Given the description of an element on the screen output the (x, y) to click on. 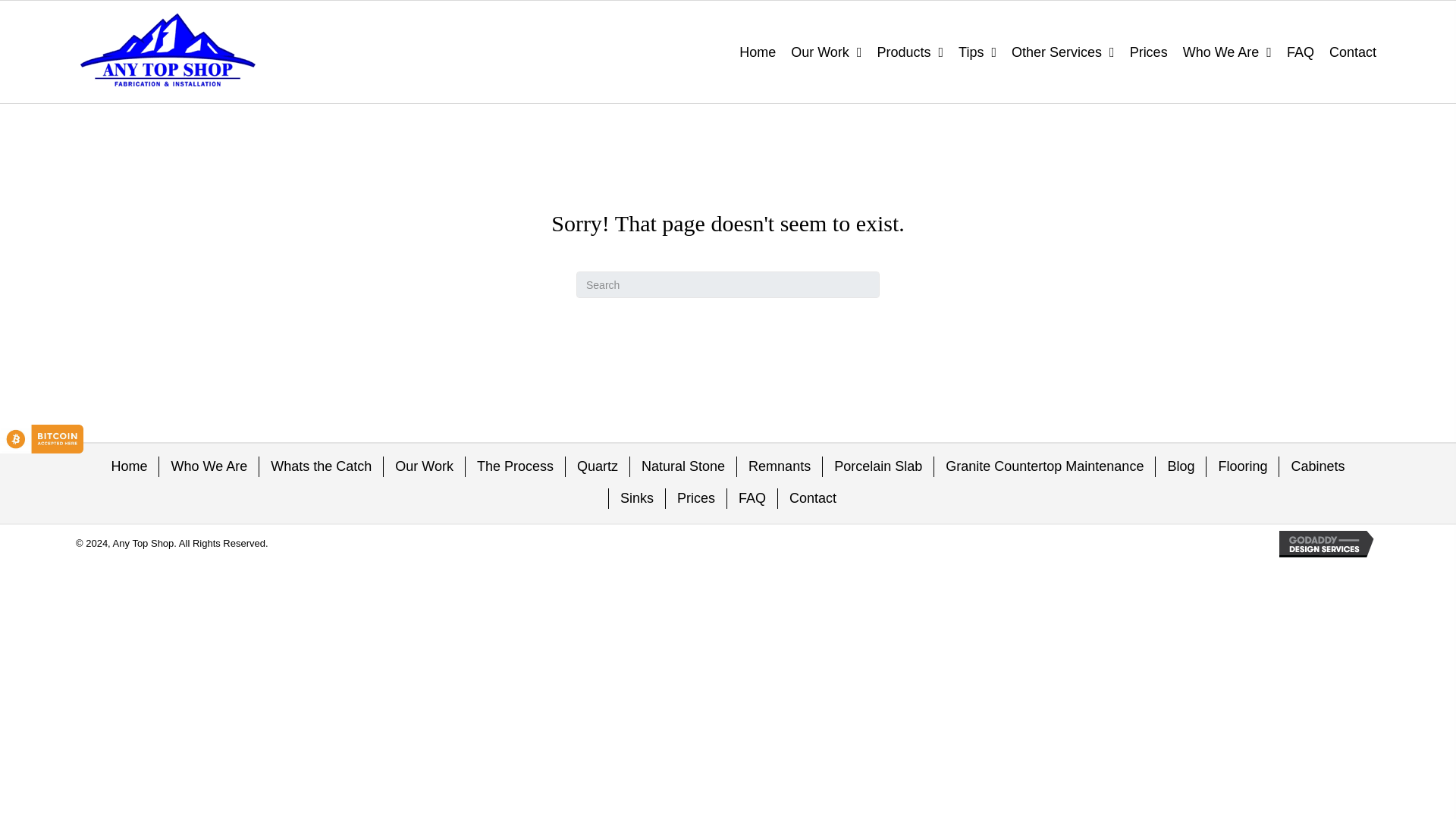
Home (757, 51)
btc (41, 439)
FAQ (1300, 51)
Other Services (1063, 51)
Type and press Enter to search. (727, 284)
Our Work (825, 51)
Prices (1148, 51)
1 (167, 51)
Who We Are (1226, 51)
Tips (976, 51)
Contact (1352, 51)
Products (909, 51)
